Given the description of an element on the screen output the (x, y) to click on. 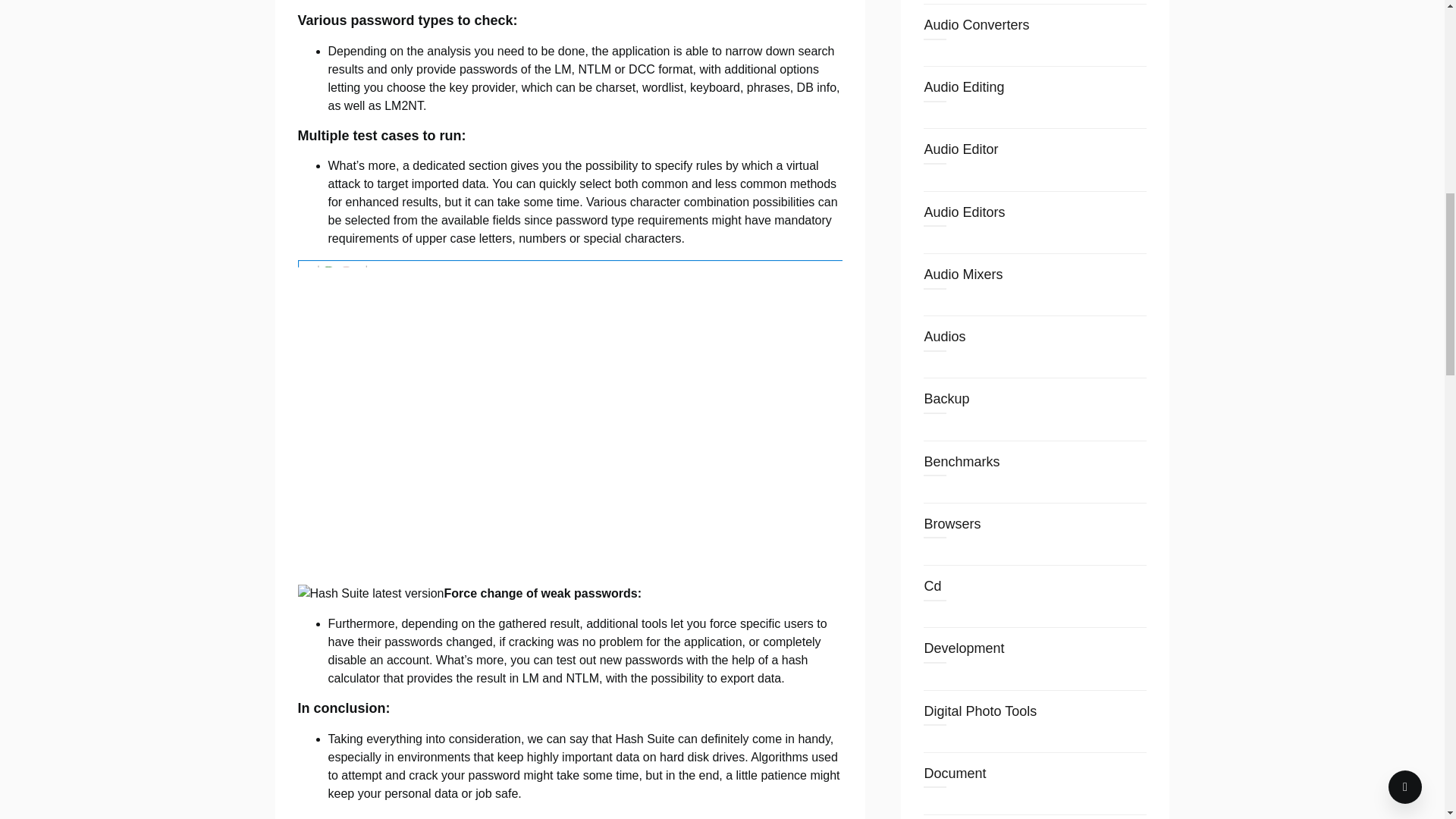
Browsers (951, 523)
Backup (946, 398)
Audio Mixers (963, 273)
Benchmarks (960, 461)
Audio Editor (960, 149)
Audio Editors (963, 212)
Audio Converters (976, 24)
Audios (944, 336)
Audio Editing (963, 87)
